Given the description of an element on the screen output the (x, y) to click on. 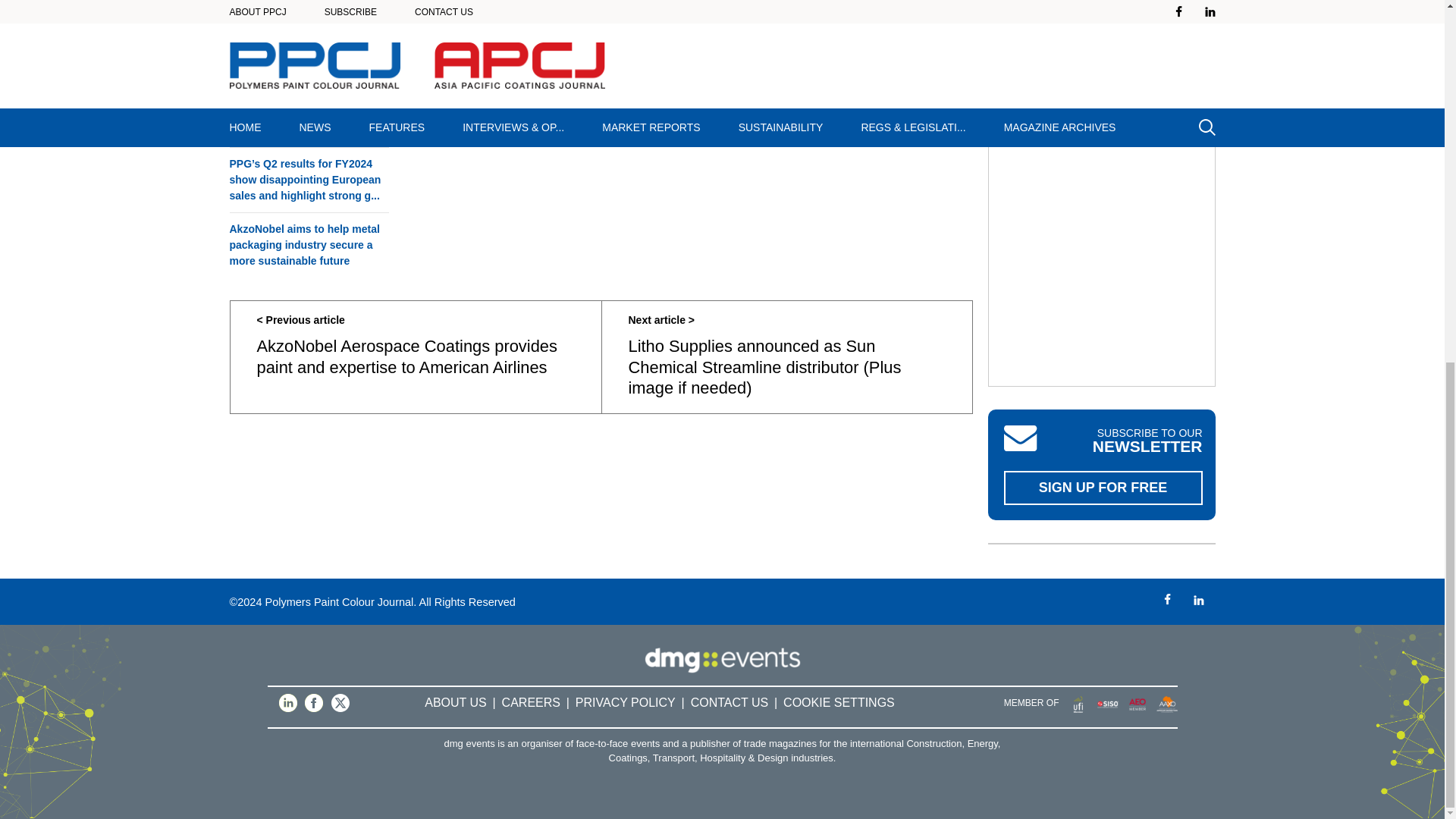
ChemQuest expands Business Development team, names four VPs (308, 118)
